Given the description of an element on the screen output the (x, y) to click on. 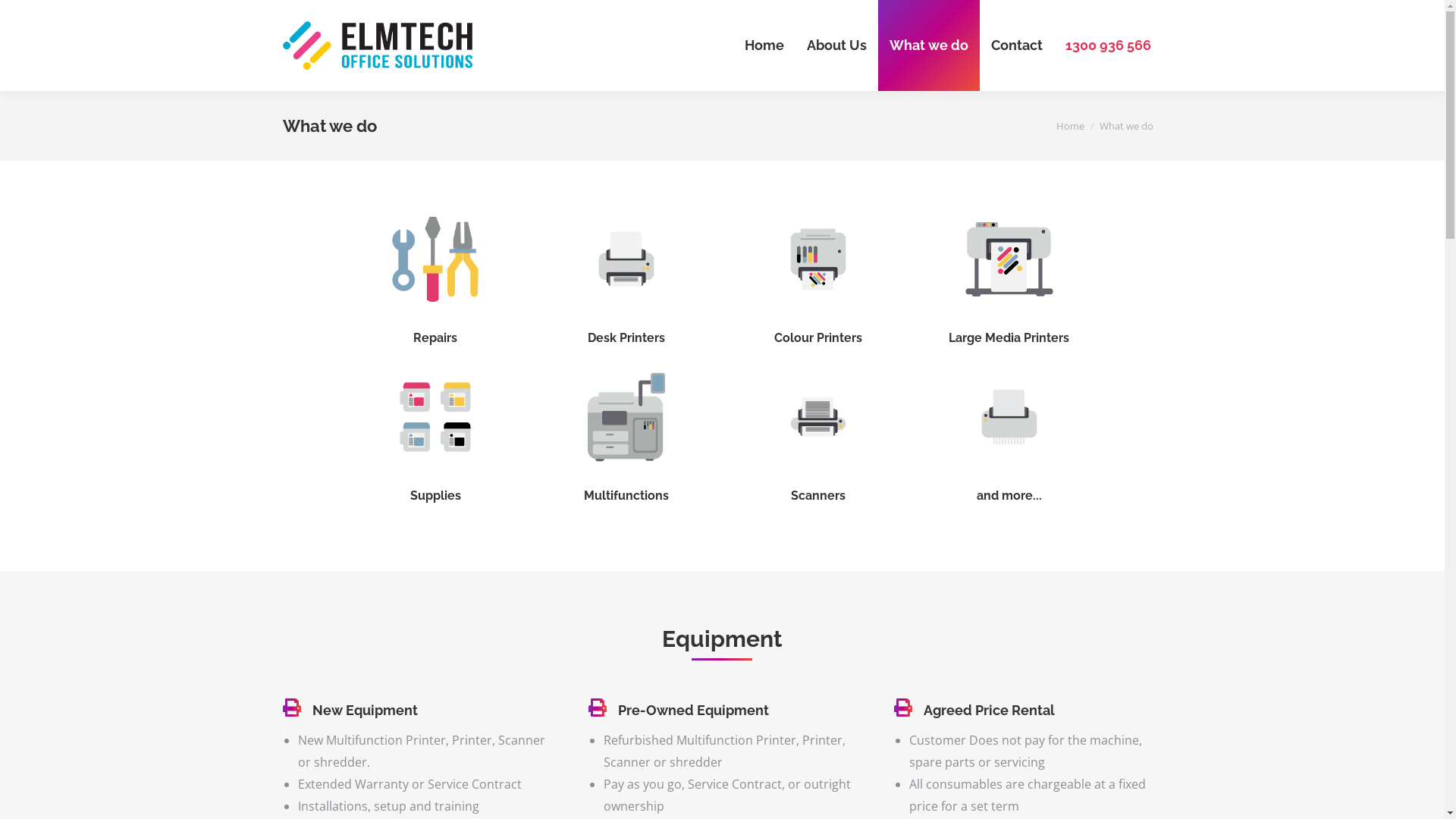
Home Element type: text (1069, 125)
Home Element type: text (763, 45)
1300 936 566 Element type: text (1108, 45)
What we do Element type: text (928, 45)
About Us Element type: text (835, 45)
Contact Element type: text (1016, 45)
